Given the description of an element on the screen output the (x, y) to click on. 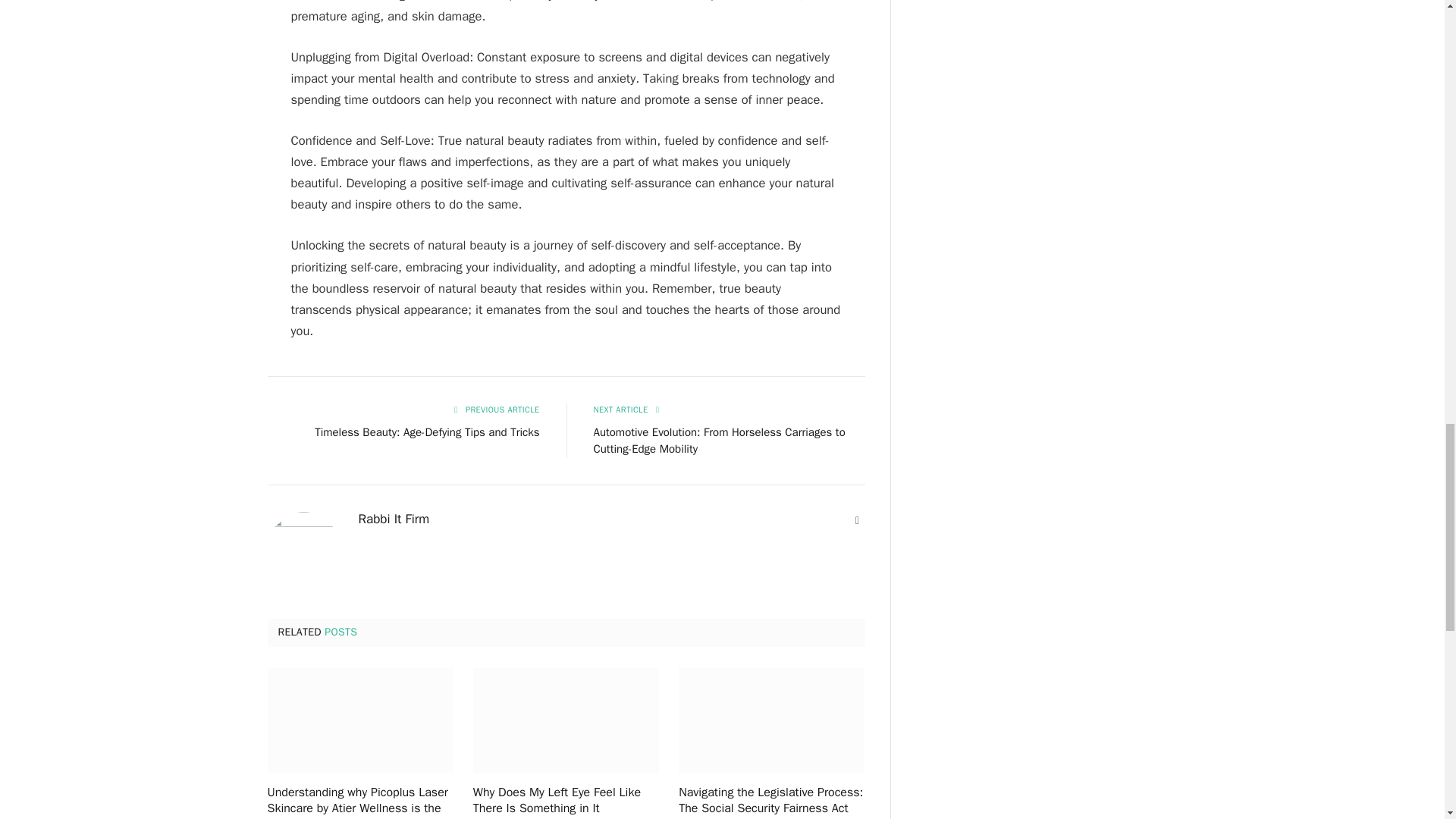
Rabbi It Firm (393, 519)
Posts by Rabbi It Firm (393, 519)
Website (856, 520)
Why Does My Left Eye Feel Like There Is Something in It (566, 720)
Why Does My Left Eye Feel Like There Is Something in It (566, 801)
Timeless Beauty: Age-Defying Tips and Tricks (426, 431)
Website (856, 520)
